Given the description of an element on the screen output the (x, y) to click on. 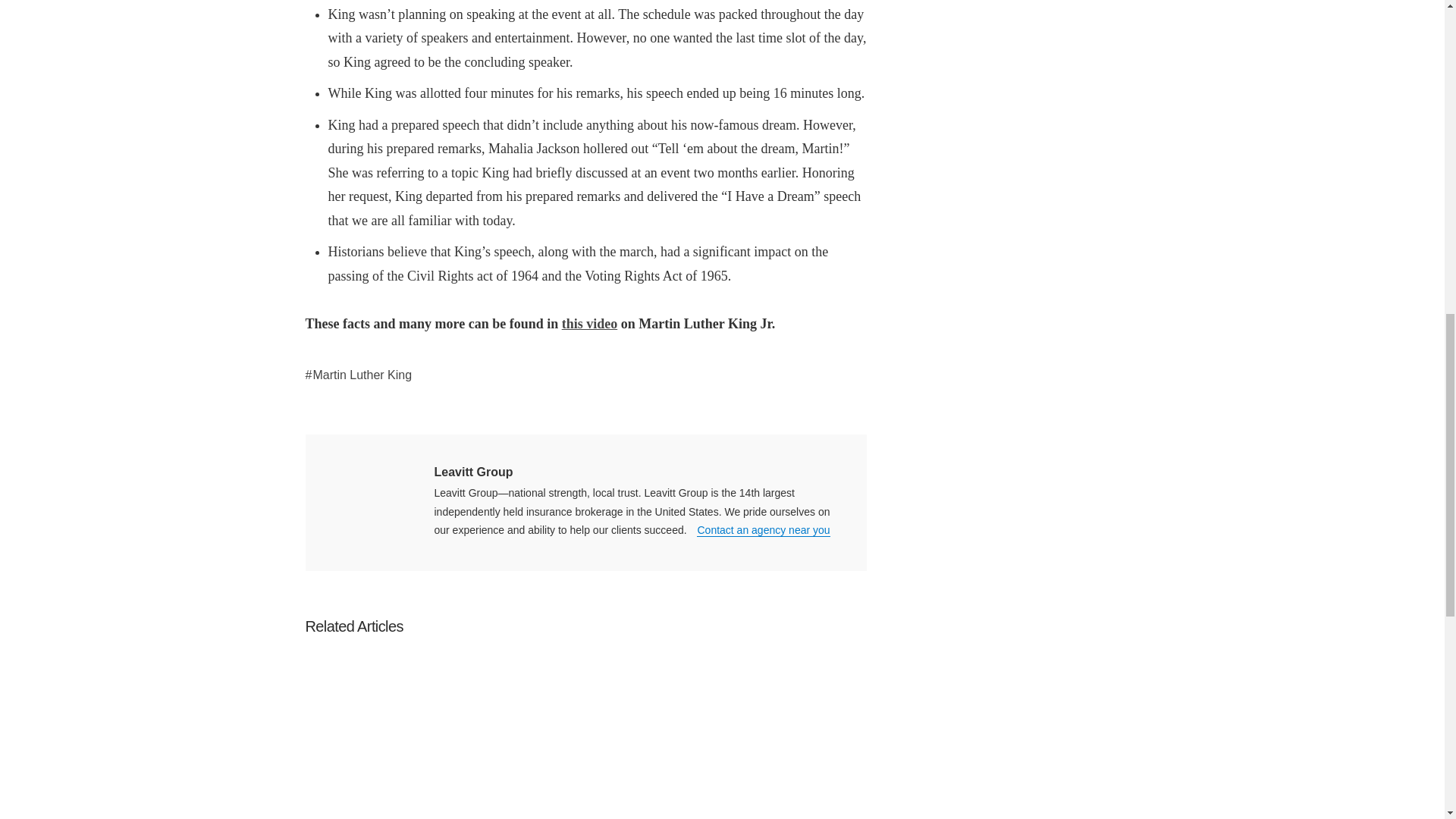
this video (589, 323)
Martin Luther King (358, 374)
Contact an agency near you (763, 530)
Daylight Saving Time Trivia (395, 738)
Leavitt Group (472, 472)
View all posts by Leavitt Group (472, 472)
